Given the description of an element on the screen output the (x, y) to click on. 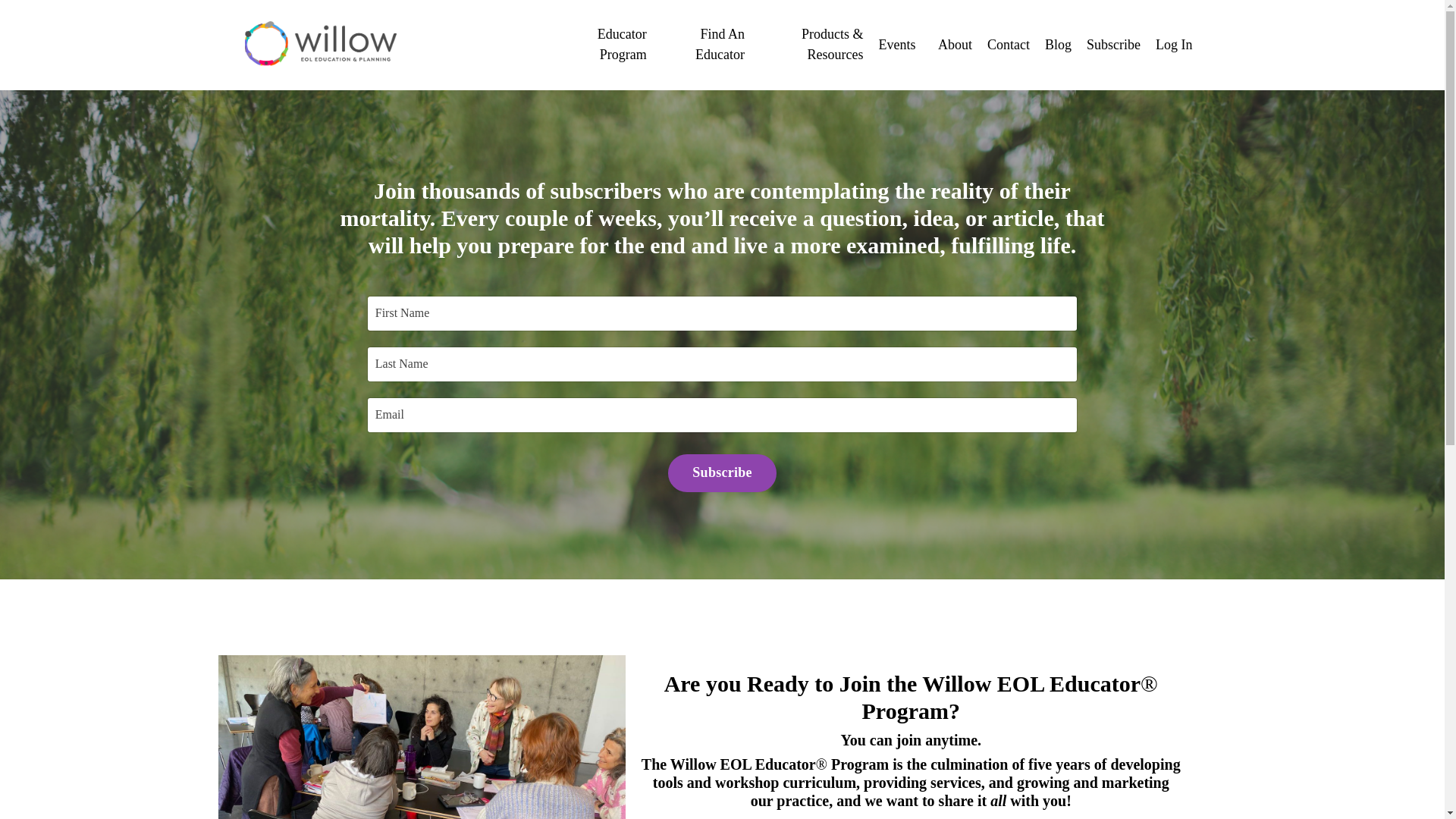
Events (900, 45)
Subscribe (1113, 45)
About (954, 45)
Educator Program (603, 44)
You can join anytime. (910, 740)
Blog (1058, 45)
Log In (1174, 44)
Find An Educator (703, 44)
Subscribe (722, 473)
Contact (1008, 45)
